Given the description of an element on the screen output the (x, y) to click on. 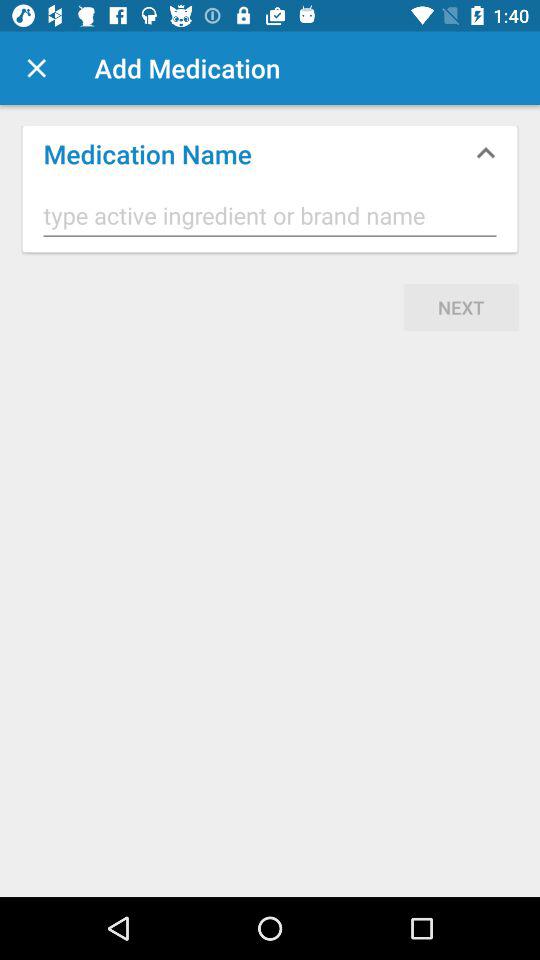
choose item above next icon (269, 216)
